Given the description of an element on the screen output the (x, y) to click on. 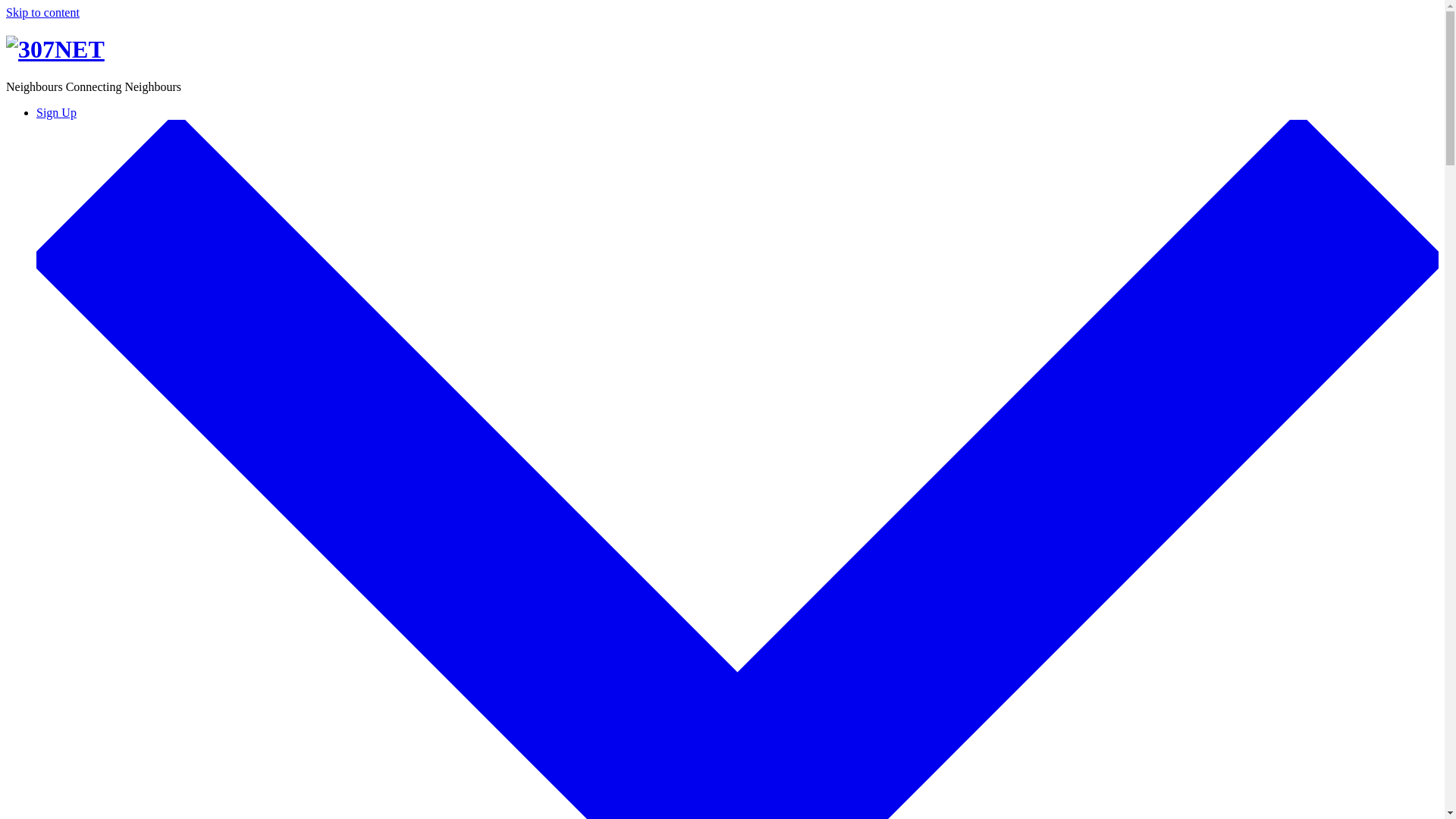
Skip to content Element type: text (42, 12)
